Given the description of an element on the screen output the (x, y) to click on. 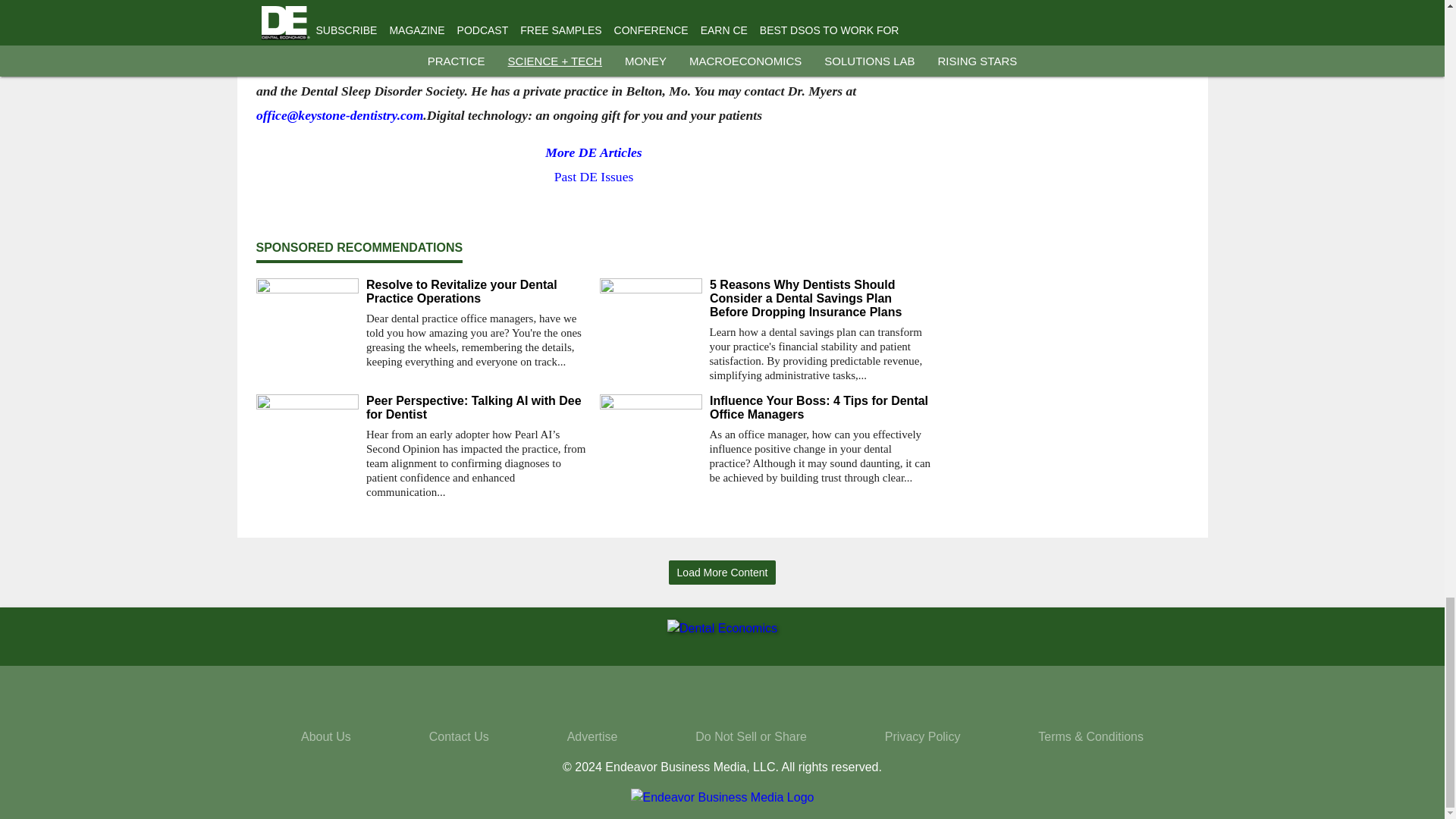
More DE Articles (593, 151)
Past DE Issues (593, 176)
Influence Your Boss: 4 Tips for Dental Office Managers (820, 407)
Peer Perspective: Talking AI with Dee for Dentist (476, 407)
Resolve to Revitalize your Dental Practice Operations (476, 291)
